Given the description of an element on the screen output the (x, y) to click on. 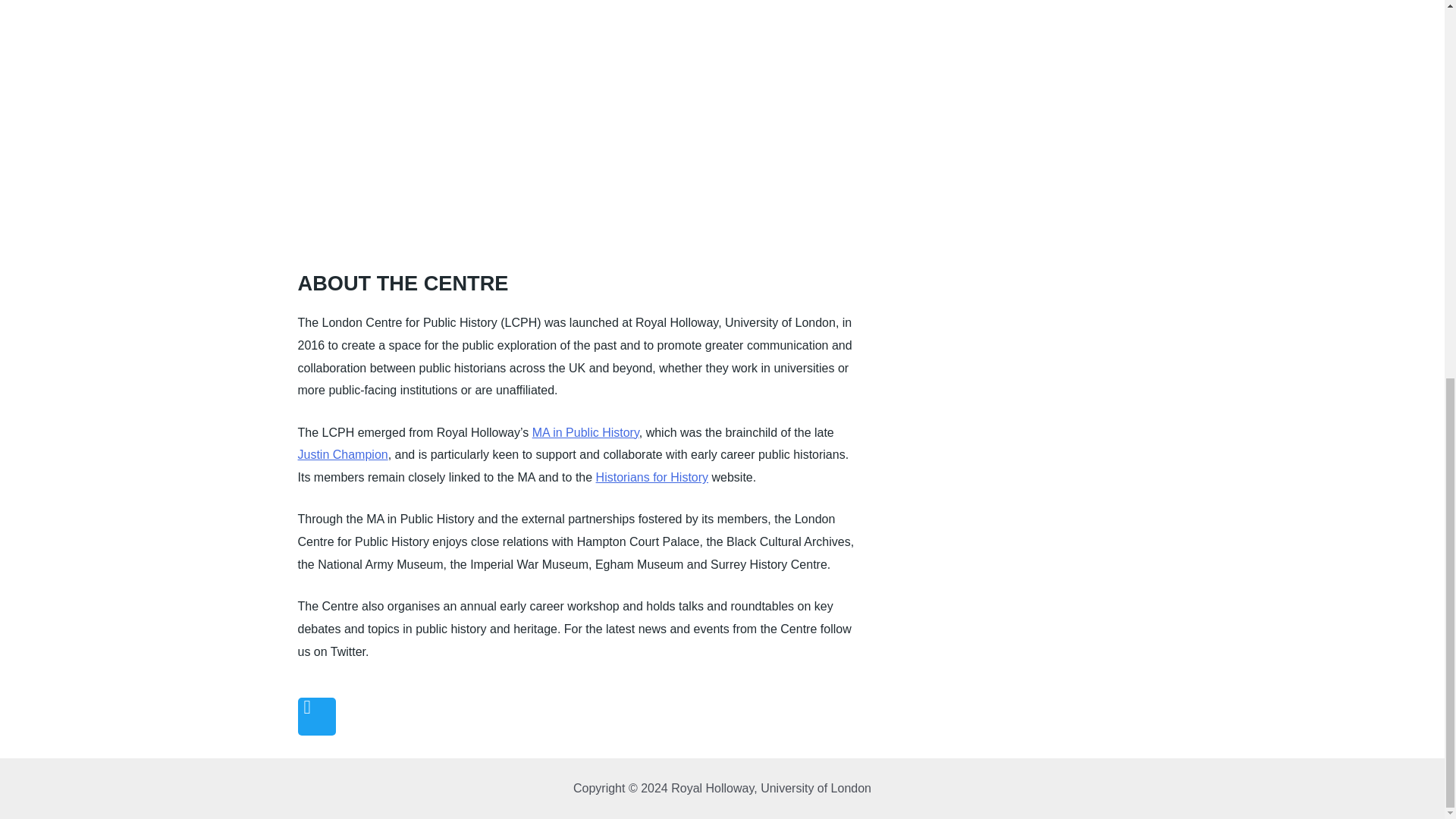
Justin Champion (342, 454)
MA in Public History (585, 431)
Historians for History (651, 477)
